Given the description of an element on the screen output the (x, y) to click on. 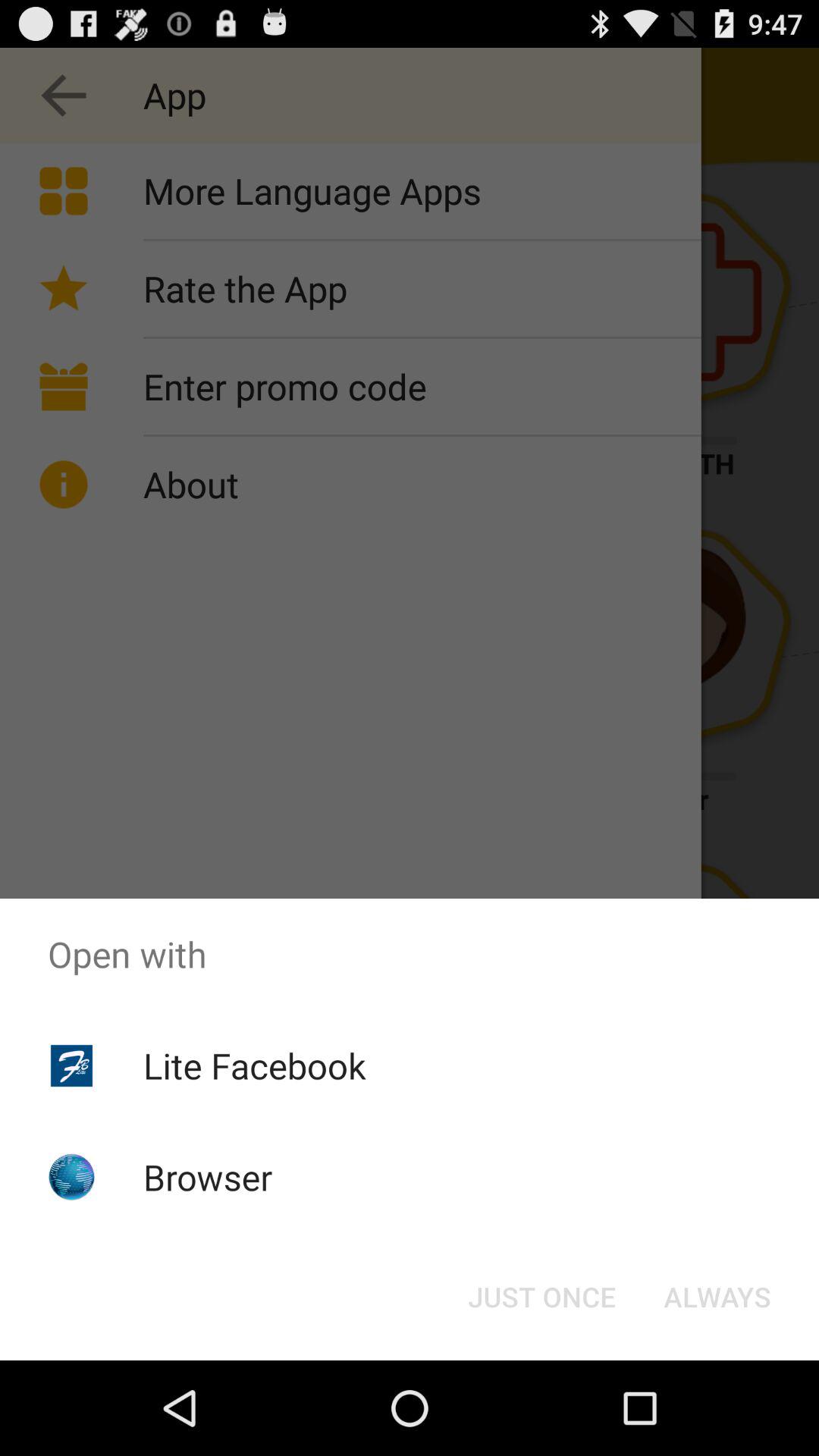
tap lite facebook icon (254, 1065)
